Given the description of an element on the screen output the (x, y) to click on. 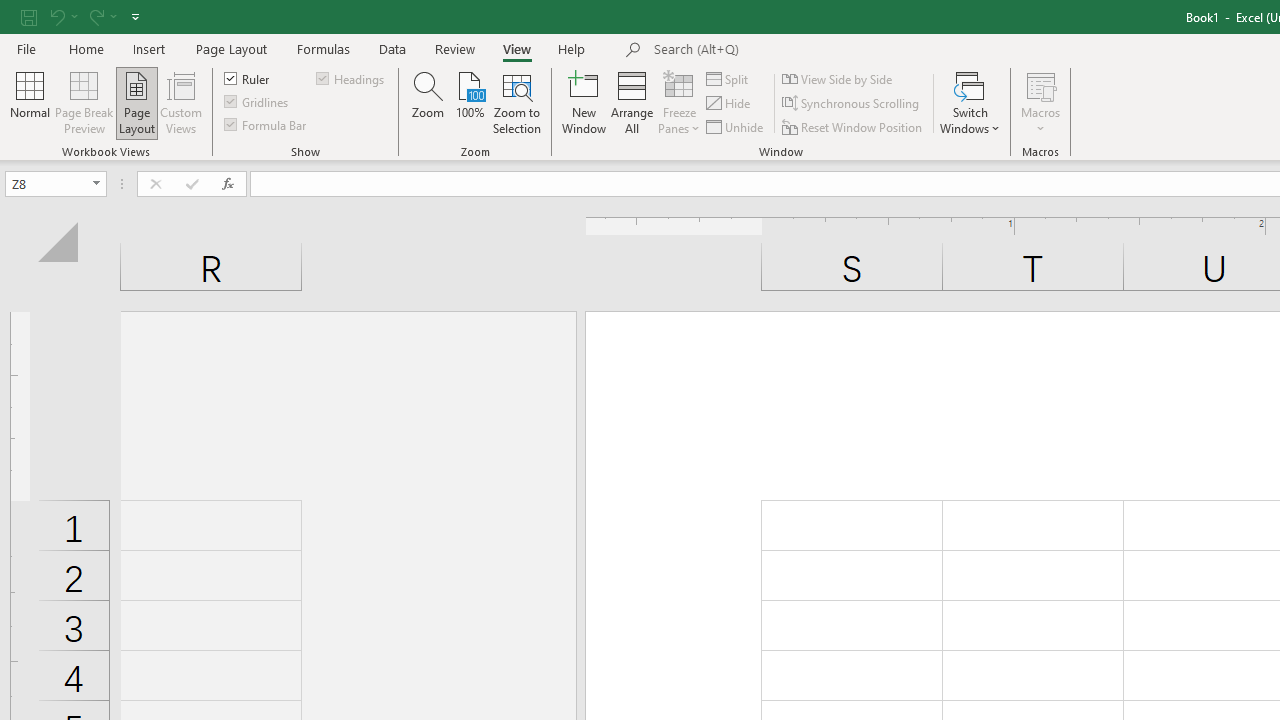
Zoom... (428, 102)
Macros (1040, 102)
Arrange All (632, 102)
Gridlines (257, 101)
Split (728, 78)
New Window (584, 102)
Zoom to Selection (517, 102)
